Given the description of an element on the screen output the (x, y) to click on. 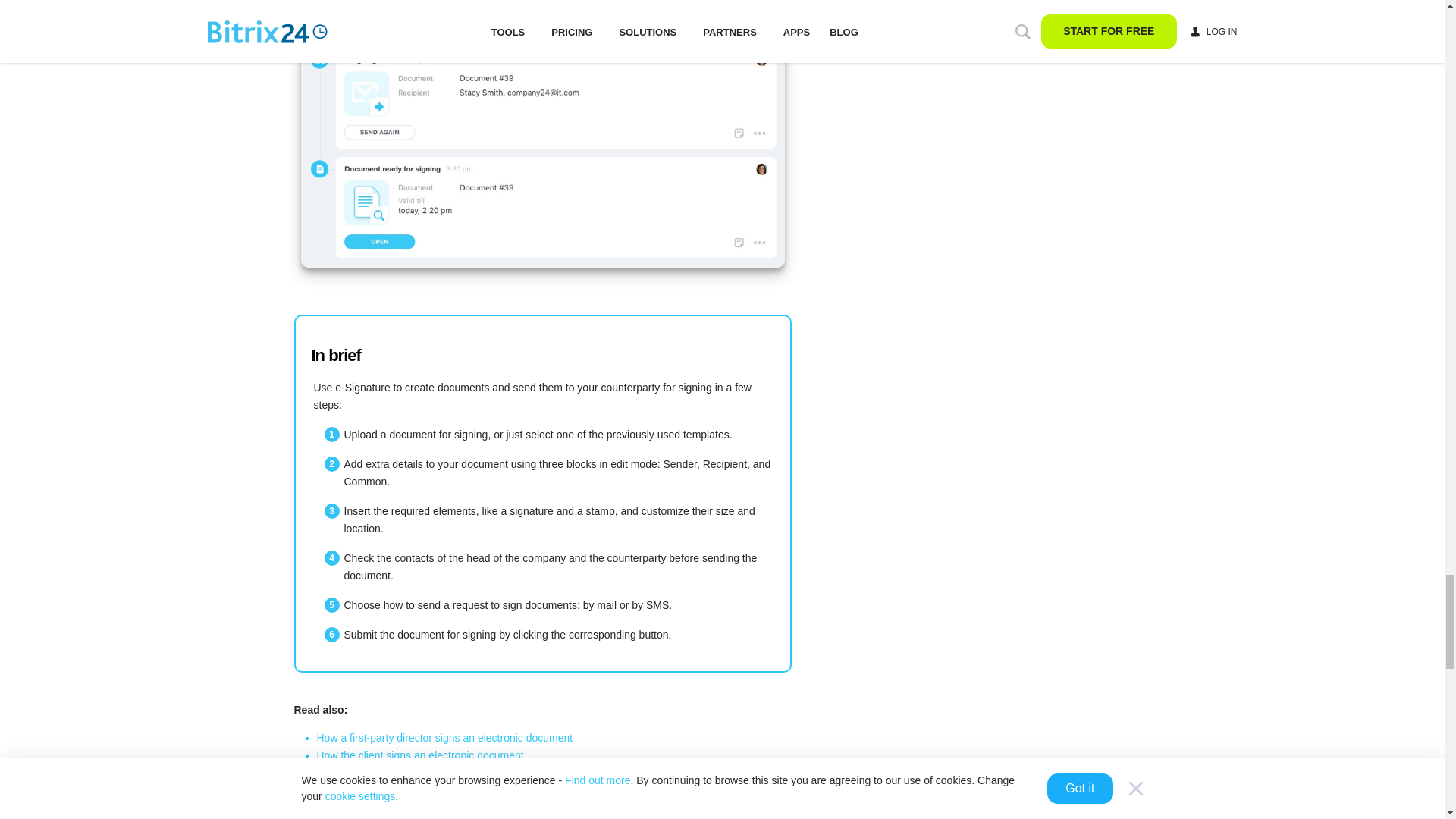
Document timeline (541, 133)
How a first-party director signs an electronic document (445, 737)
Contacts of signing parties (379, 772)
How the client signs an electronic document (420, 755)
